Given the description of an element on the screen output the (x, y) to click on. 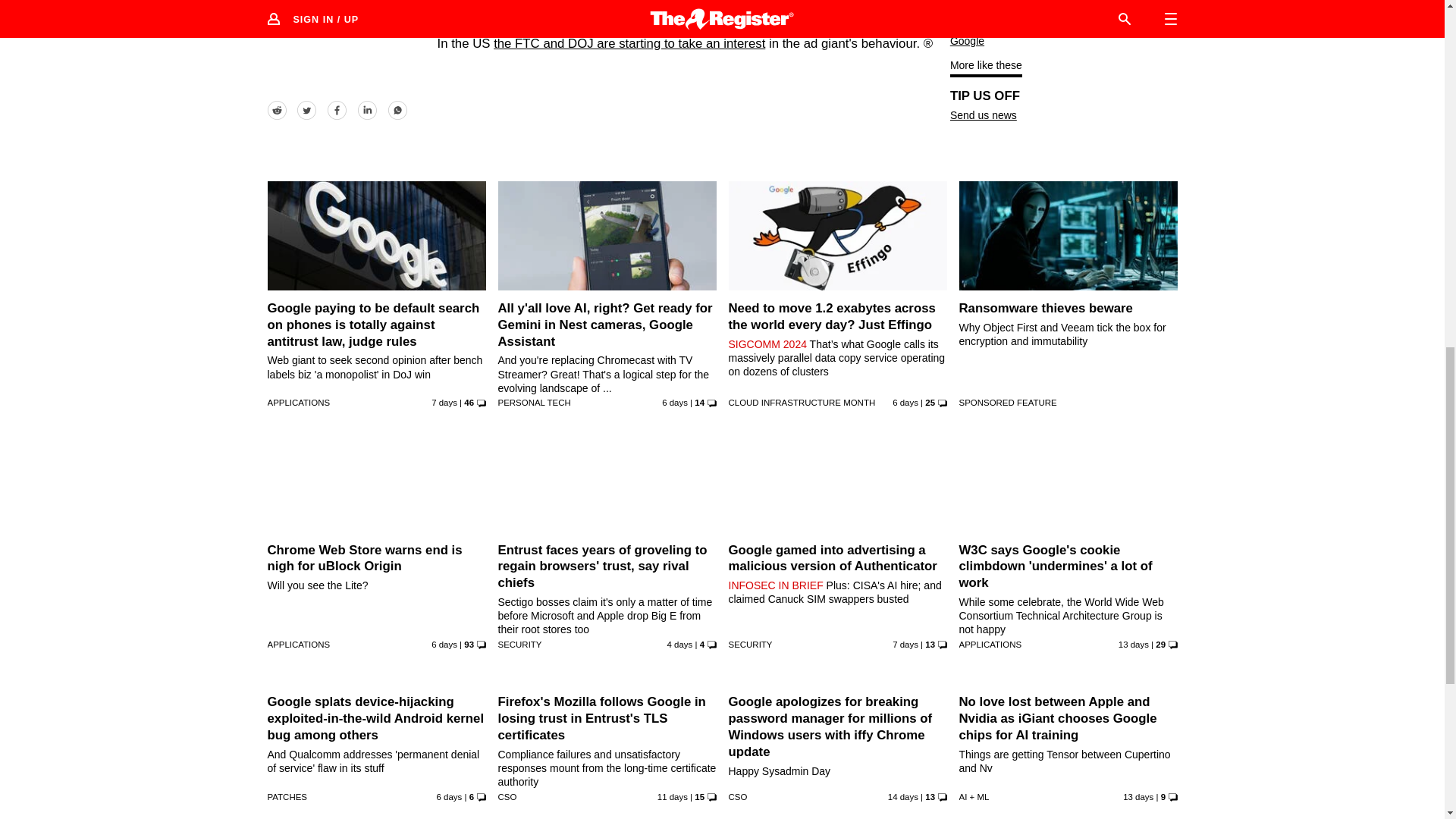
8 Aug 2024 8:33 (679, 644)
29 Jul 2024 13:1 (903, 796)
6 Aug 2024 18:23 (449, 796)
5 Aug 2024 21:58 (443, 402)
5 Aug 2024 2:0 (905, 644)
30 Jul 2024 13:2 (1133, 644)
6 Aug 2024 7:30 (443, 644)
6 Aug 2024 13:28 (905, 402)
6 Aug 2024 22:13 (674, 402)
1 Aug 2024 12:28 (672, 796)
